Given the description of an element on the screen output the (x, y) to click on. 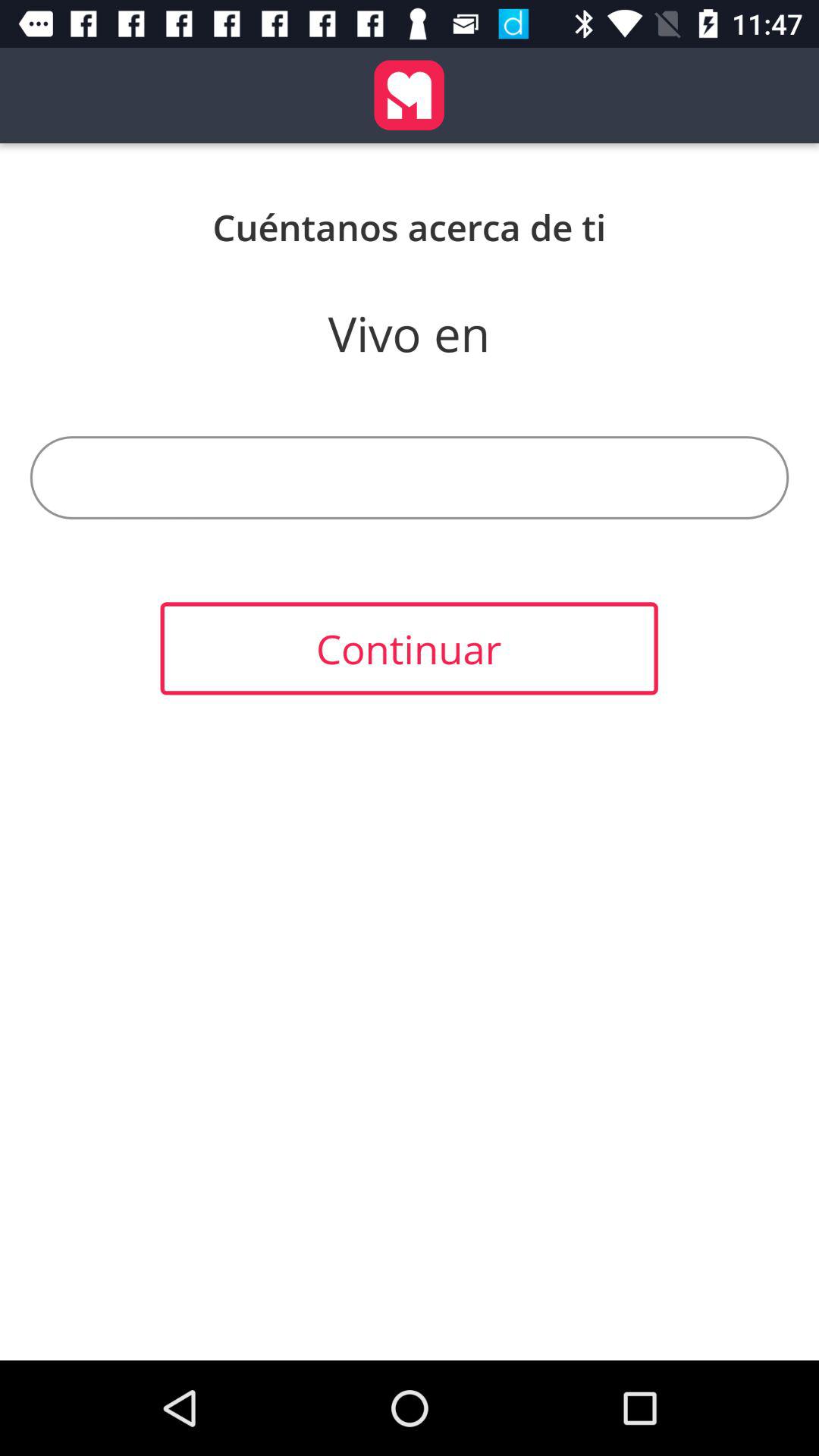
open the continuar item (409, 648)
